Given the description of an element on the screen output the (x, y) to click on. 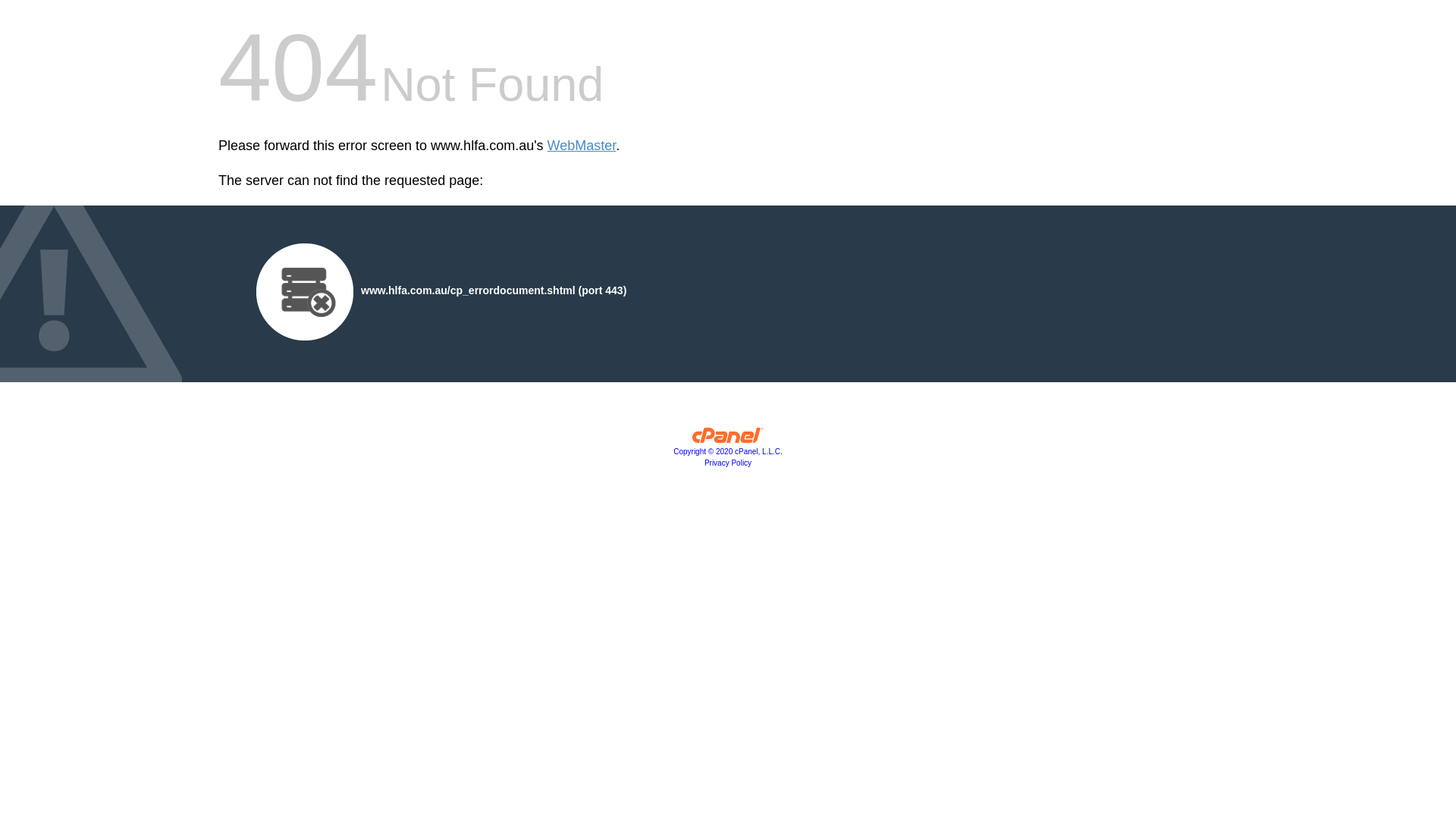
WebMaster Element type: text (581, 145)
Privacy Policy Element type: text (727, 462)
cPanel, Inc. Element type: hover (728, 439)
